Given the description of an element on the screen output the (x, y) to click on. 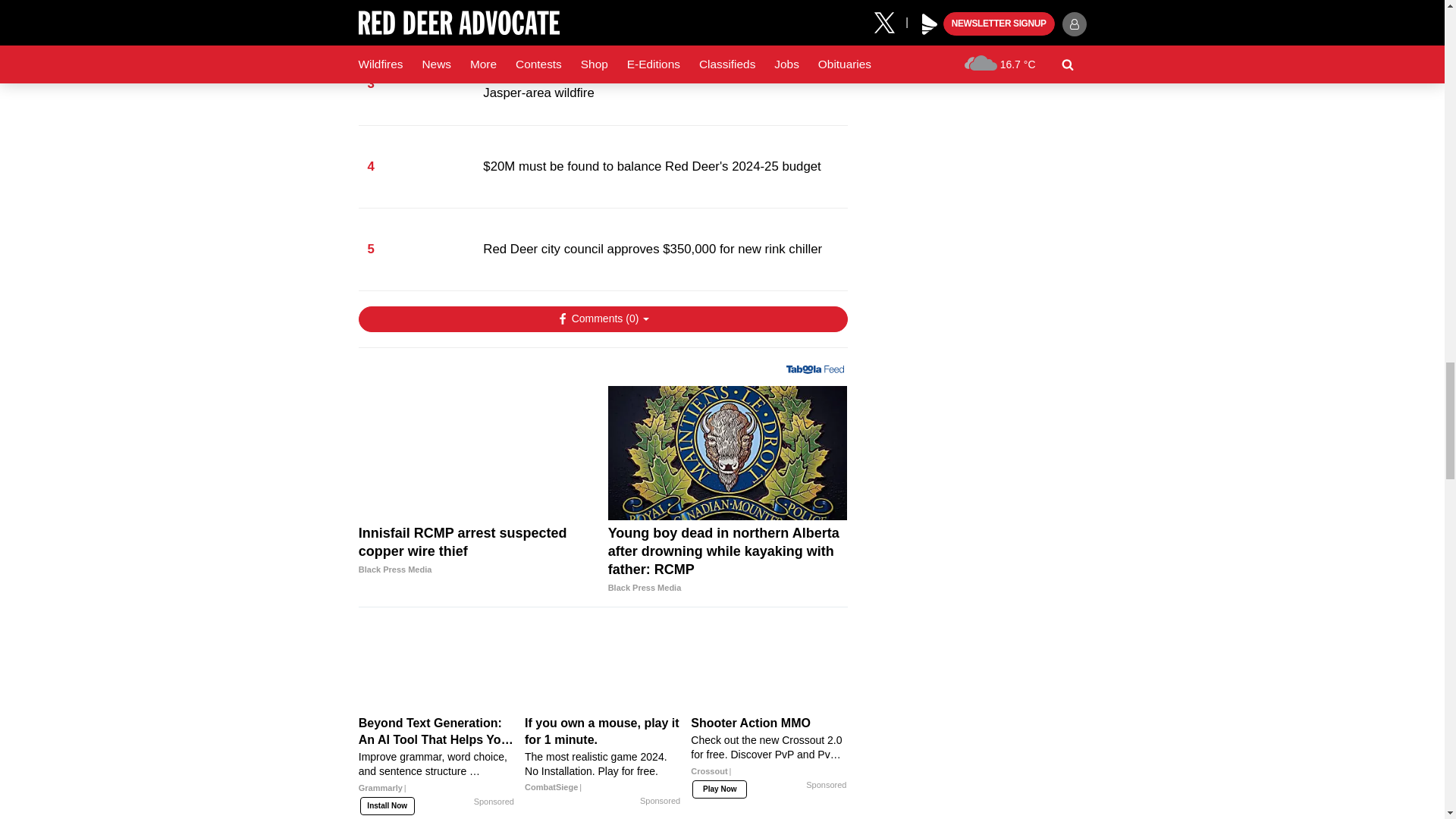
Shooter Action MMO (768, 667)
Shooter Action MMO (768, 751)
Innisfail RCMP arrest suspected copper wire thief (478, 452)
Show Comments (602, 319)
